Given the description of an element on the screen output the (x, y) to click on. 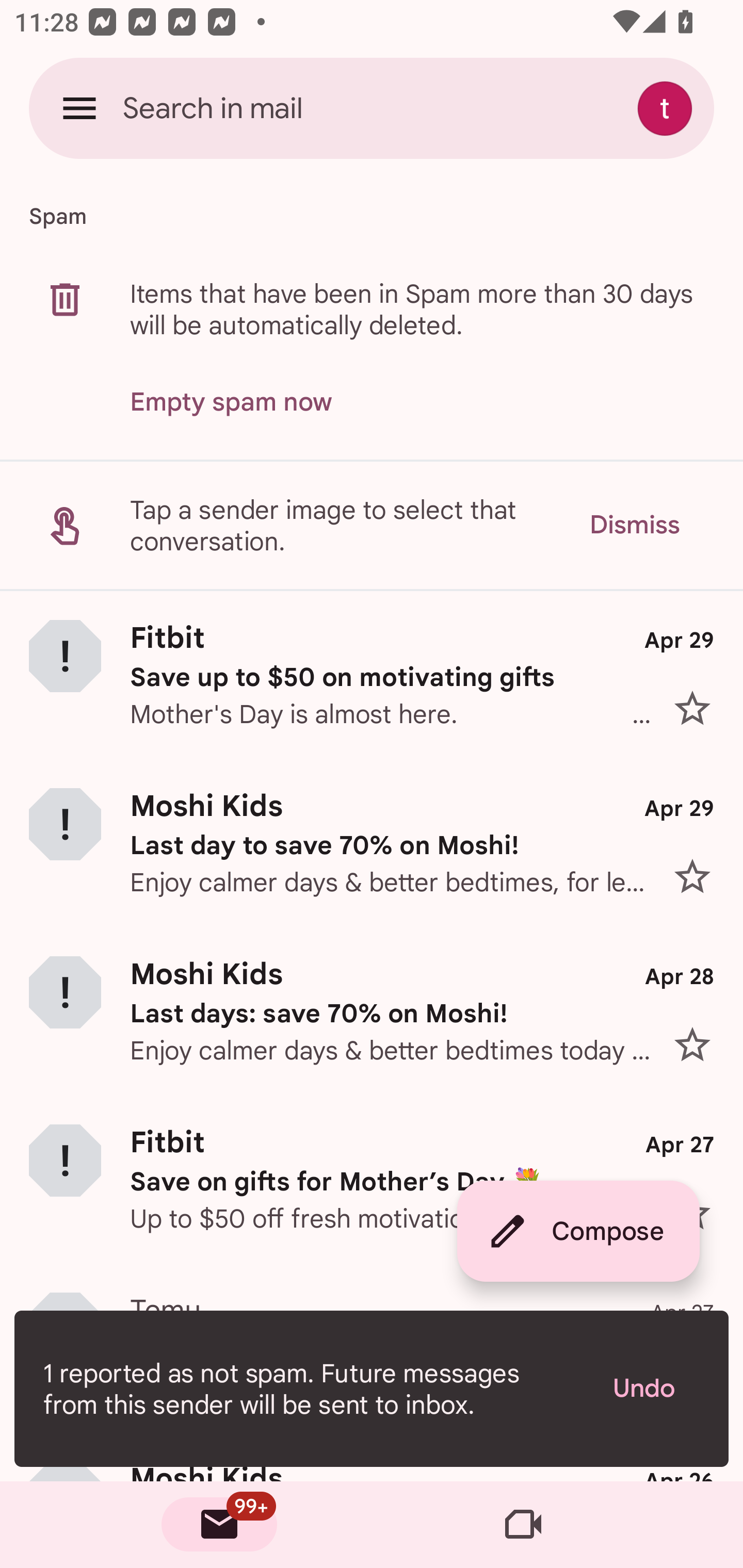
Open navigation drawer (79, 108)
Empty spam now (230, 402)
Dismiss Dismiss tip (634, 525)
Compose (577, 1230)
Undo (655, 1388)
Meet (523, 1524)
